Given the description of an element on the screen output the (x, y) to click on. 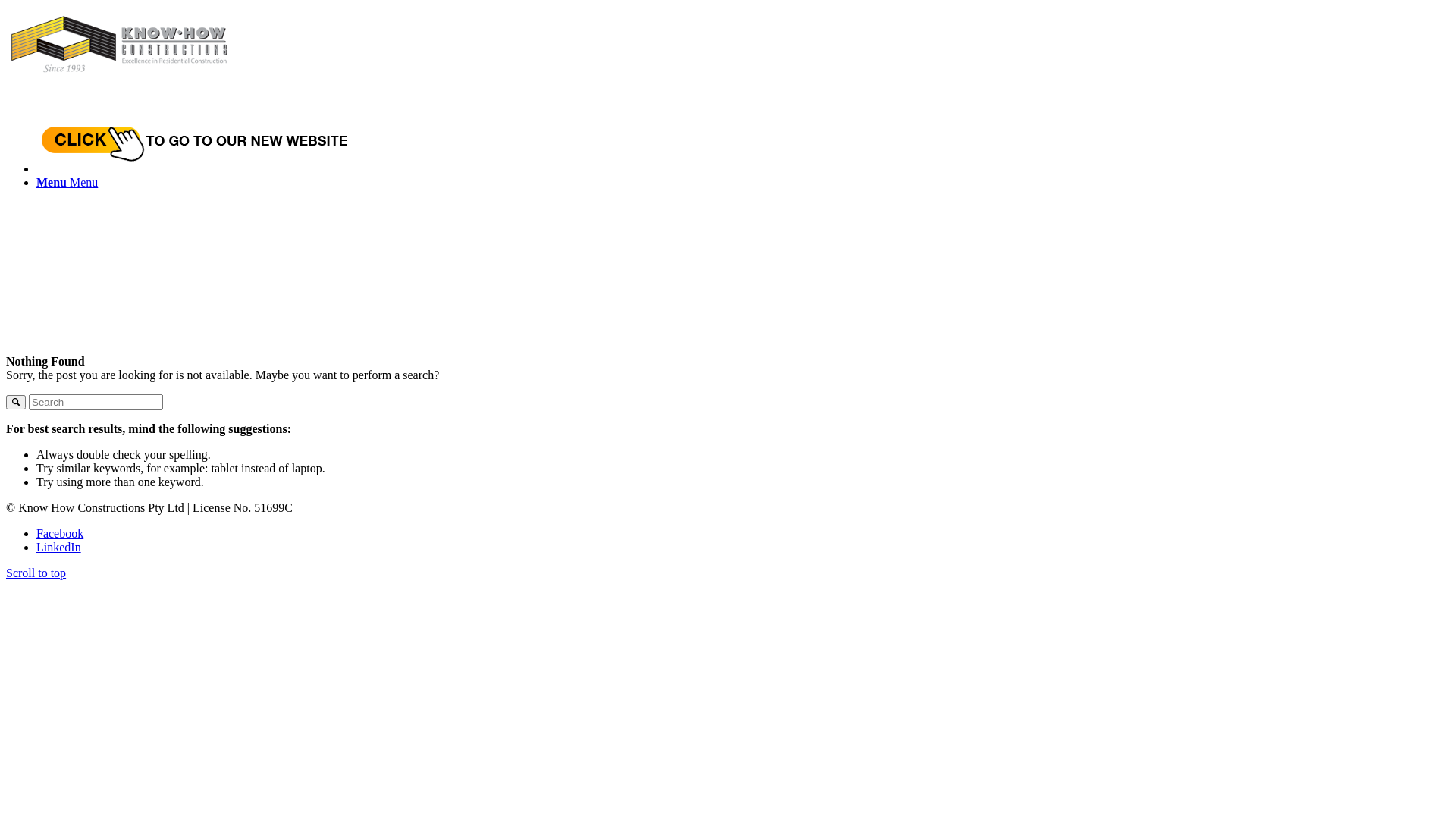
Menu Menu Element type: text (66, 181)
Facebook Element type: text (59, 533)
LinkedIn Element type: text (58, 546)
Scroll to top Element type: text (35, 572)
